Given the description of an element on the screen output the (x, y) to click on. 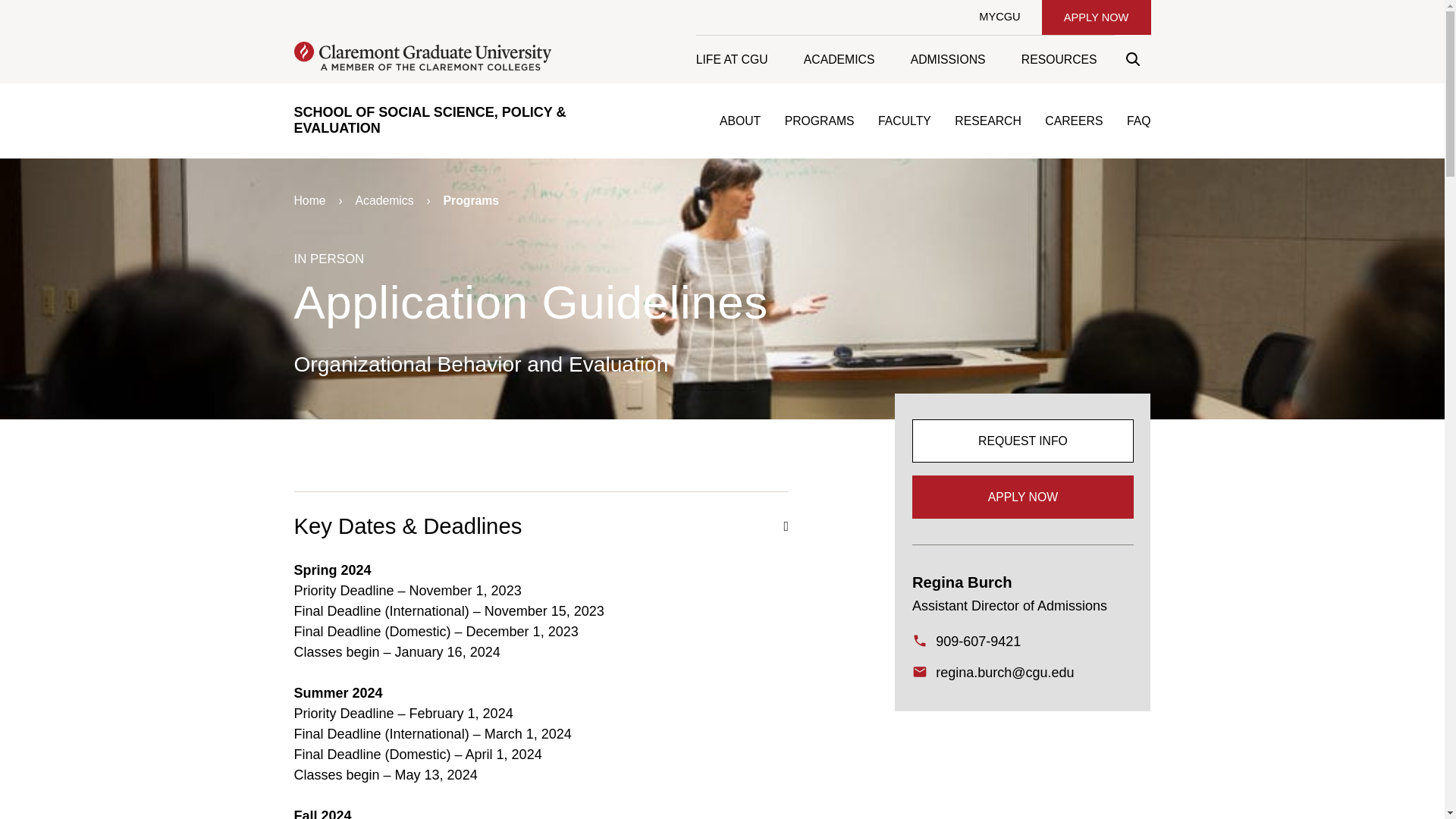
ADMISSIONS (947, 59)
LIFE AT CGU (740, 59)
ACADEMICS (839, 59)
open search field (1132, 58)
MYCGU (1000, 16)
APPLY NOW (1096, 17)
